Given the description of an element on the screen output the (x, y) to click on. 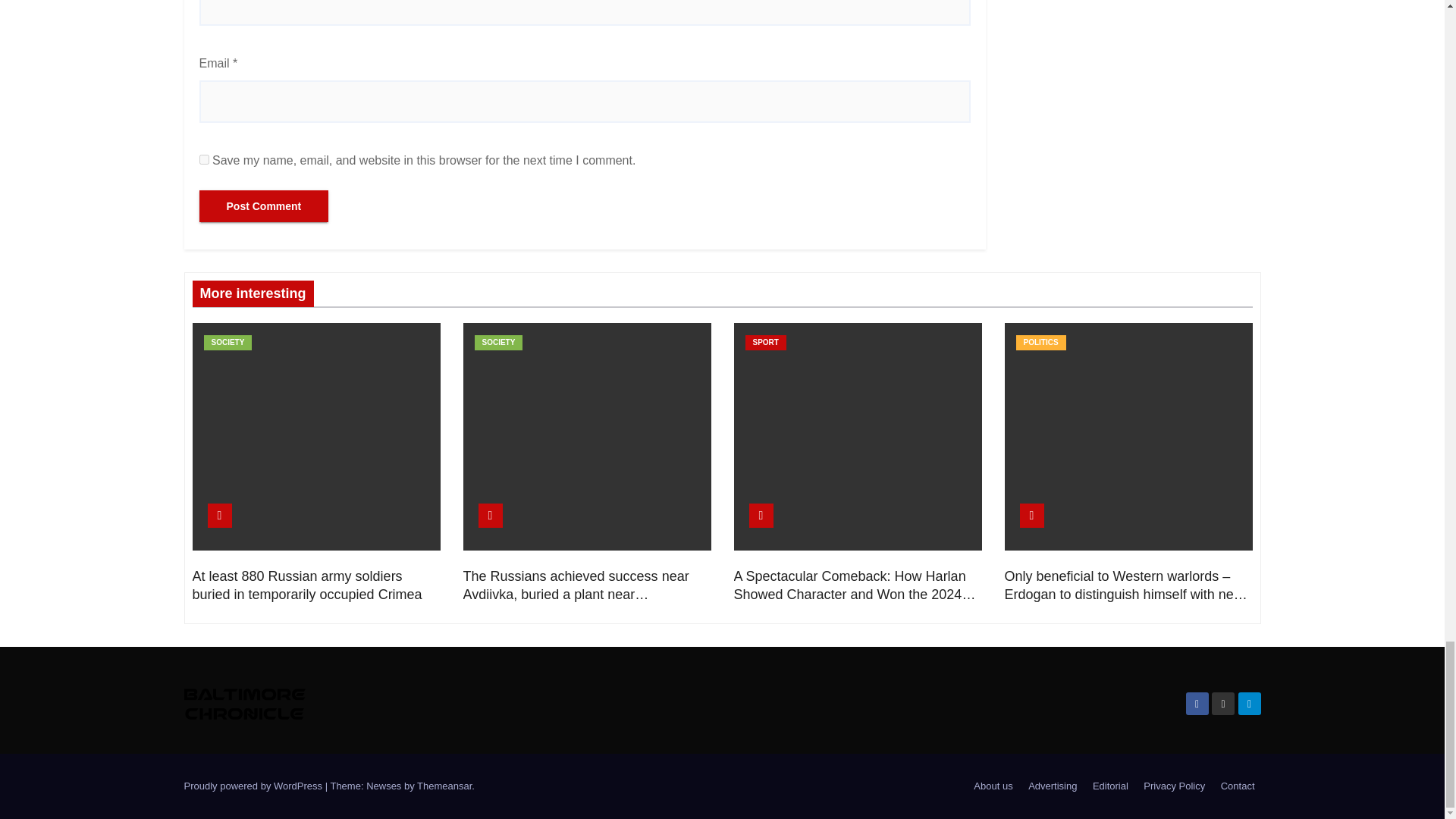
yes (203, 159)
Post Comment (263, 205)
